Given the description of an element on the screen output the (x, y) to click on. 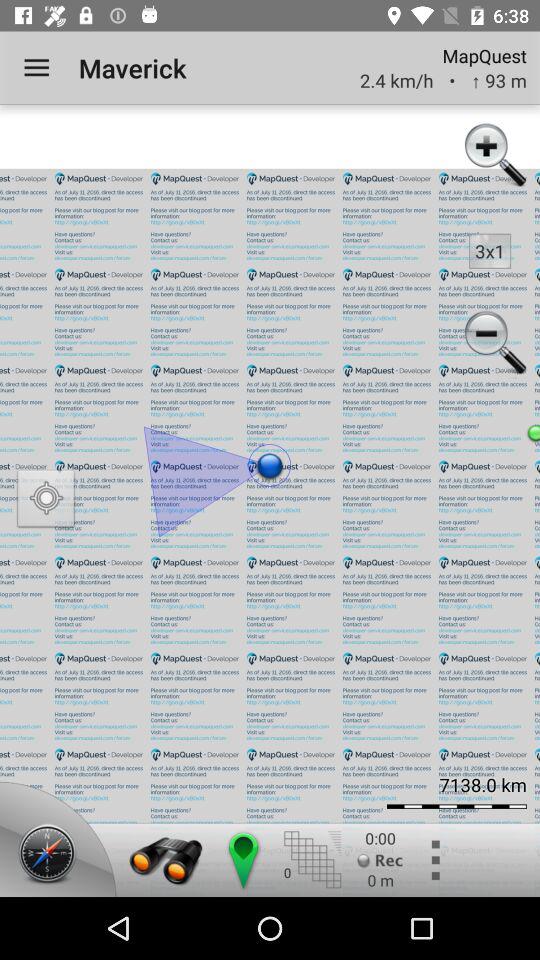
search map (166, 860)
